Given the description of an element on the screen output the (x, y) to click on. 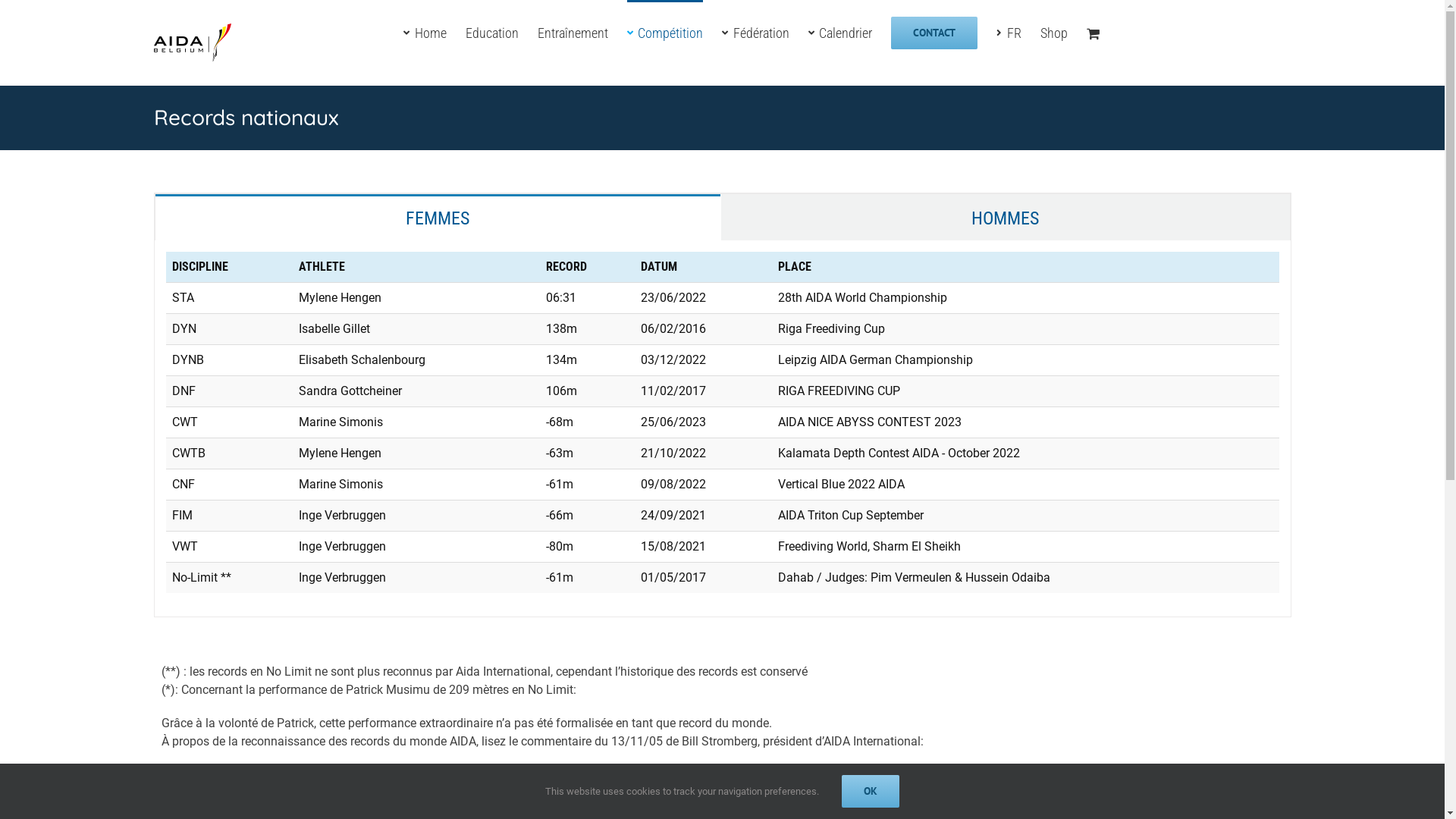
FR Element type: text (1008, 31)
HOMMES Element type: text (1004, 217)
Home Element type: text (424, 31)
FEMMES Element type: text (436, 217)
Calendrier Element type: text (840, 31)
Education Element type: text (491, 31)
CONTACT Element type: text (934, 31)
OK Element type: text (870, 791)
Shop Element type: text (1053, 31)
